Given the description of an element on the screen output the (x, y) to click on. 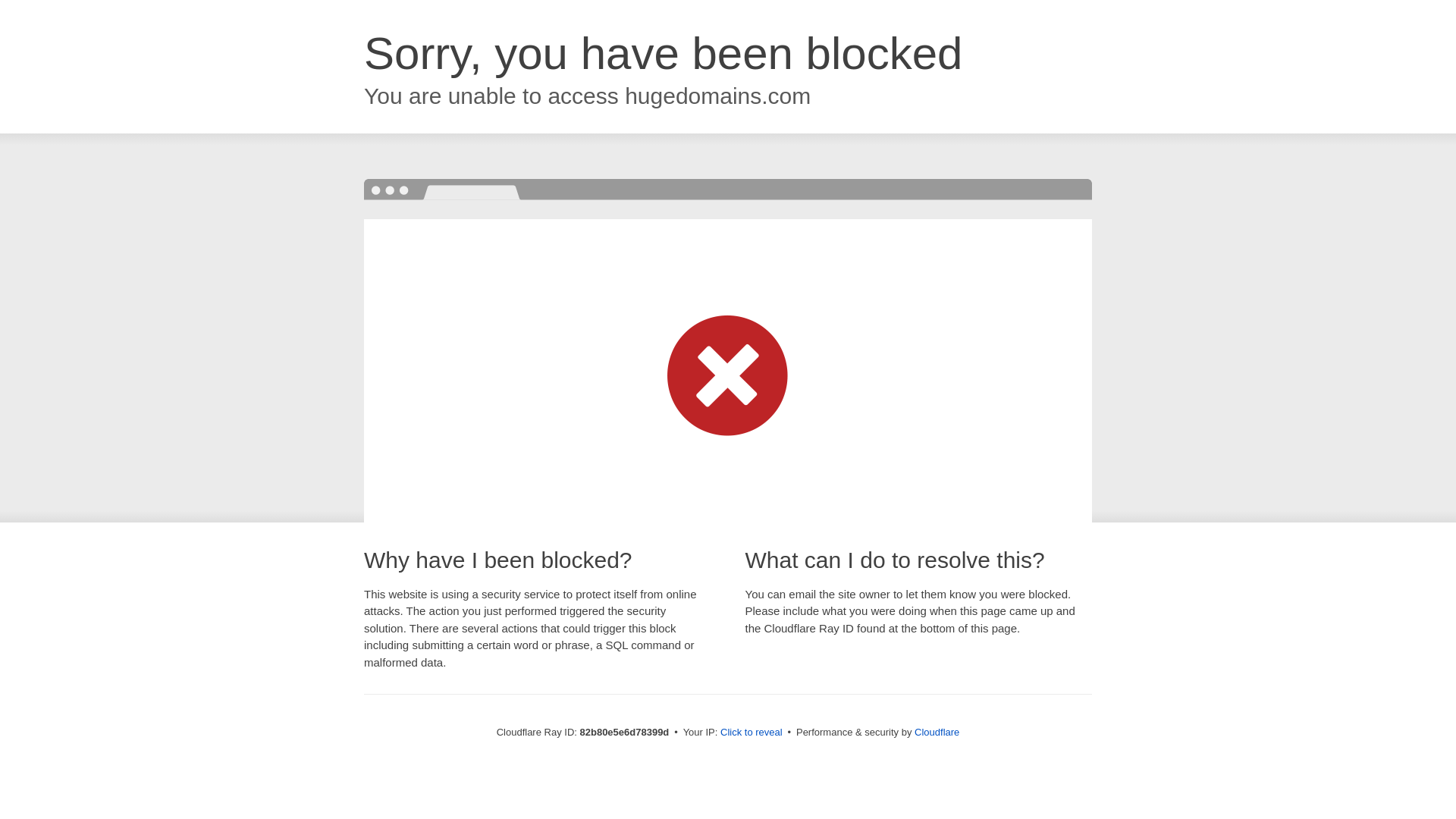
Click to reveal Element type: text (751, 732)
Cloudflare Element type: text (936, 731)
